Given the description of an element on the screen output the (x, y) to click on. 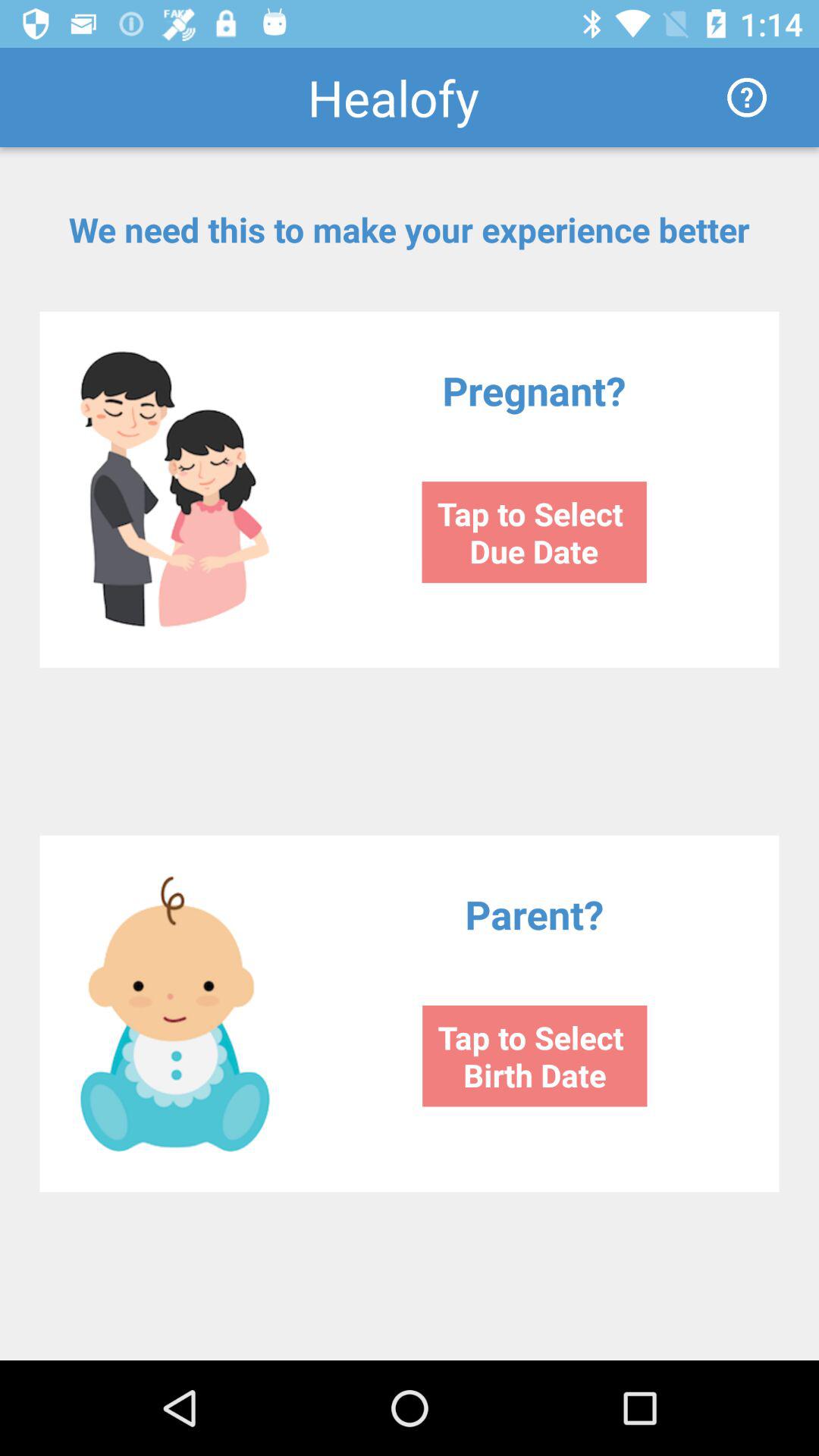
select the item at the top right corner (746, 97)
